Given the description of an element on the screen output the (x, y) to click on. 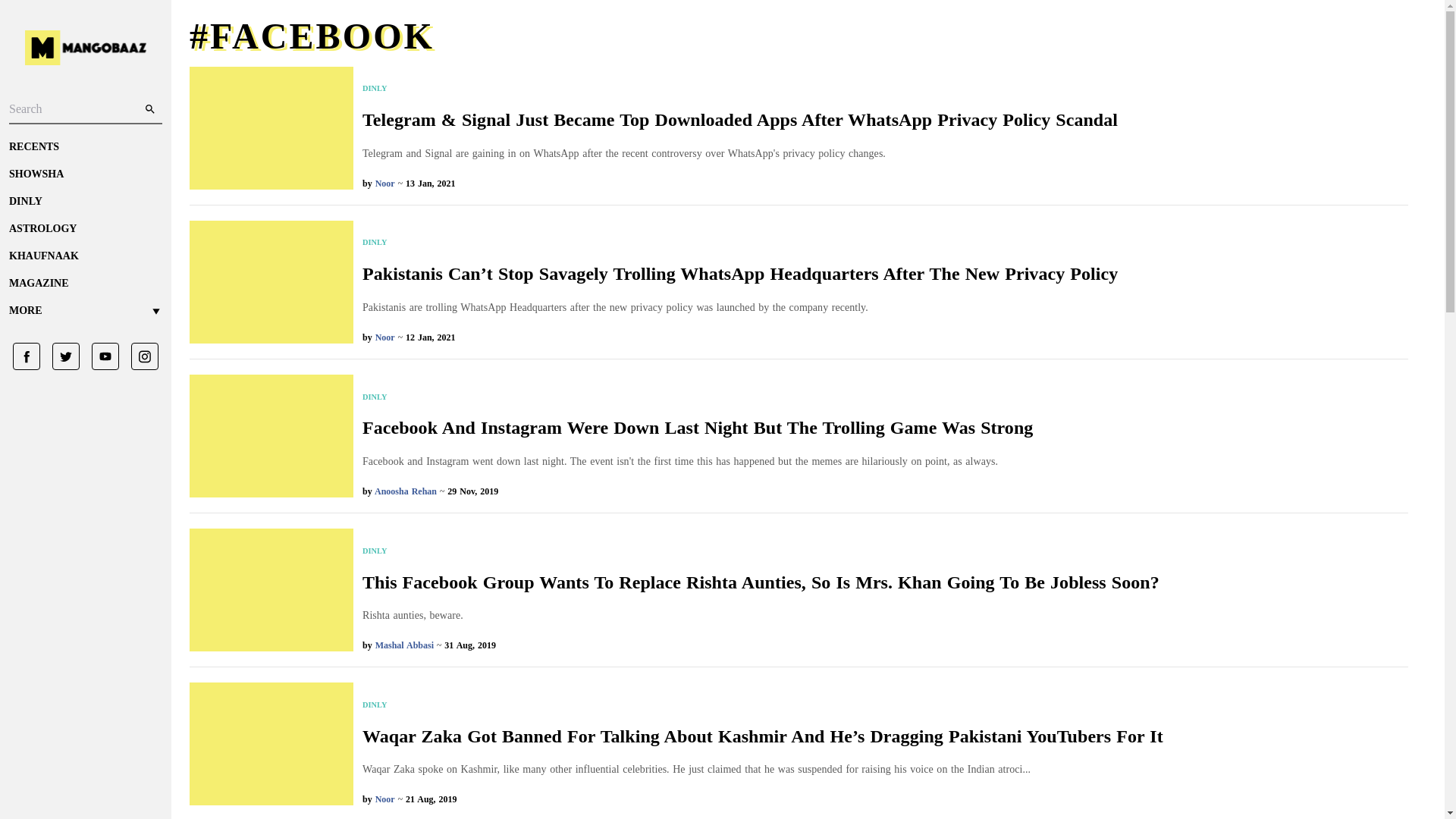
DINLY (740, 242)
DINLY (84, 201)
Link to Facebook (26, 356)
DINLY (740, 88)
Link to Instagram (138, 356)
MangoBaaz Magazine (84, 283)
RECENTS (84, 146)
Link to Twitter (60, 356)
MORE (84, 310)
Link to Youtube (99, 356)
DINLY (697, 397)
ASTROLOGY (84, 228)
MAGAZINE (84, 283)
Noor (384, 337)
SHOWSHA (84, 174)
